Given the description of an element on the screen output the (x, y) to click on. 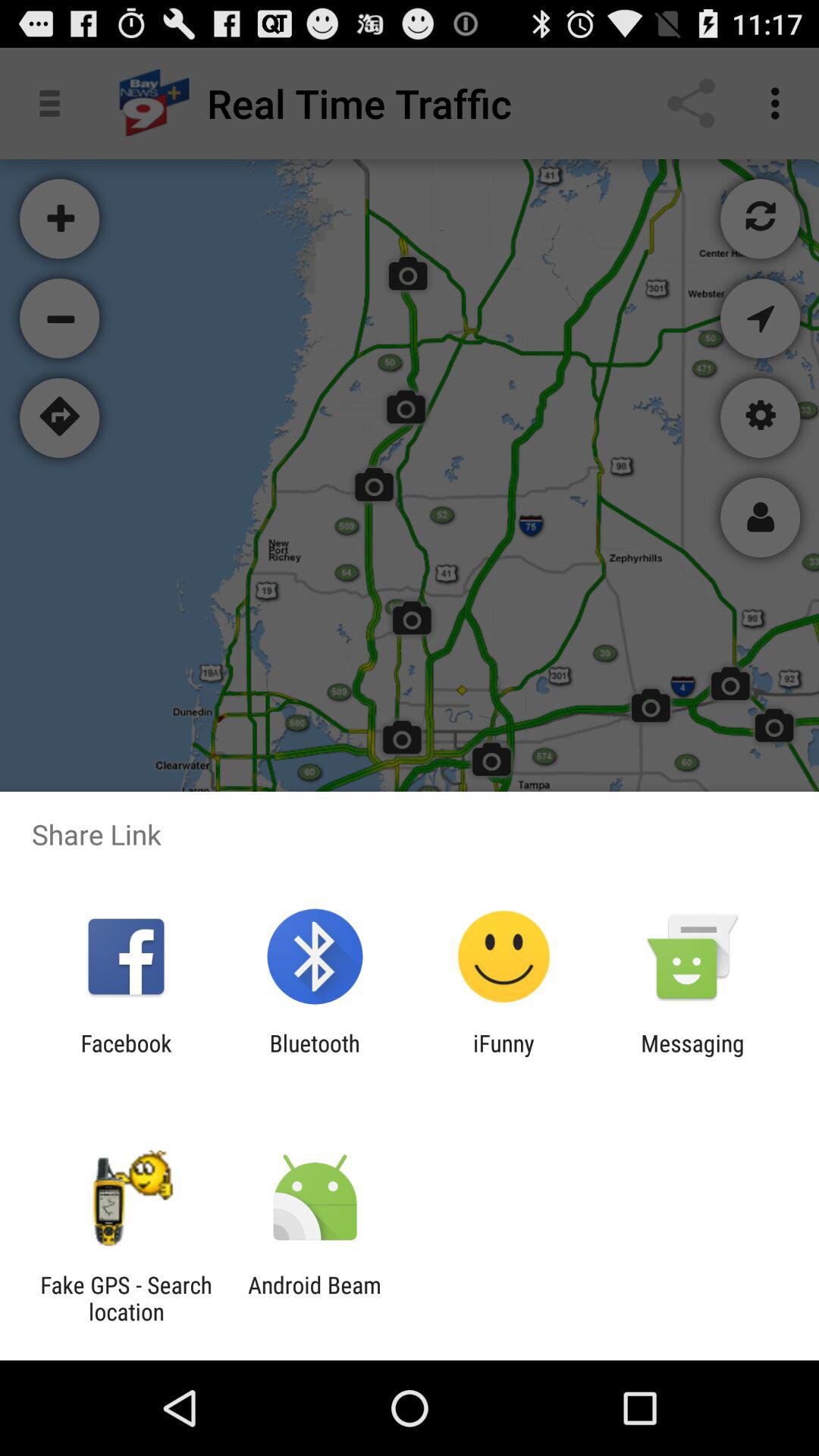
turn off item next to the messaging item (503, 1056)
